Given the description of an element on the screen output the (x, y) to click on. 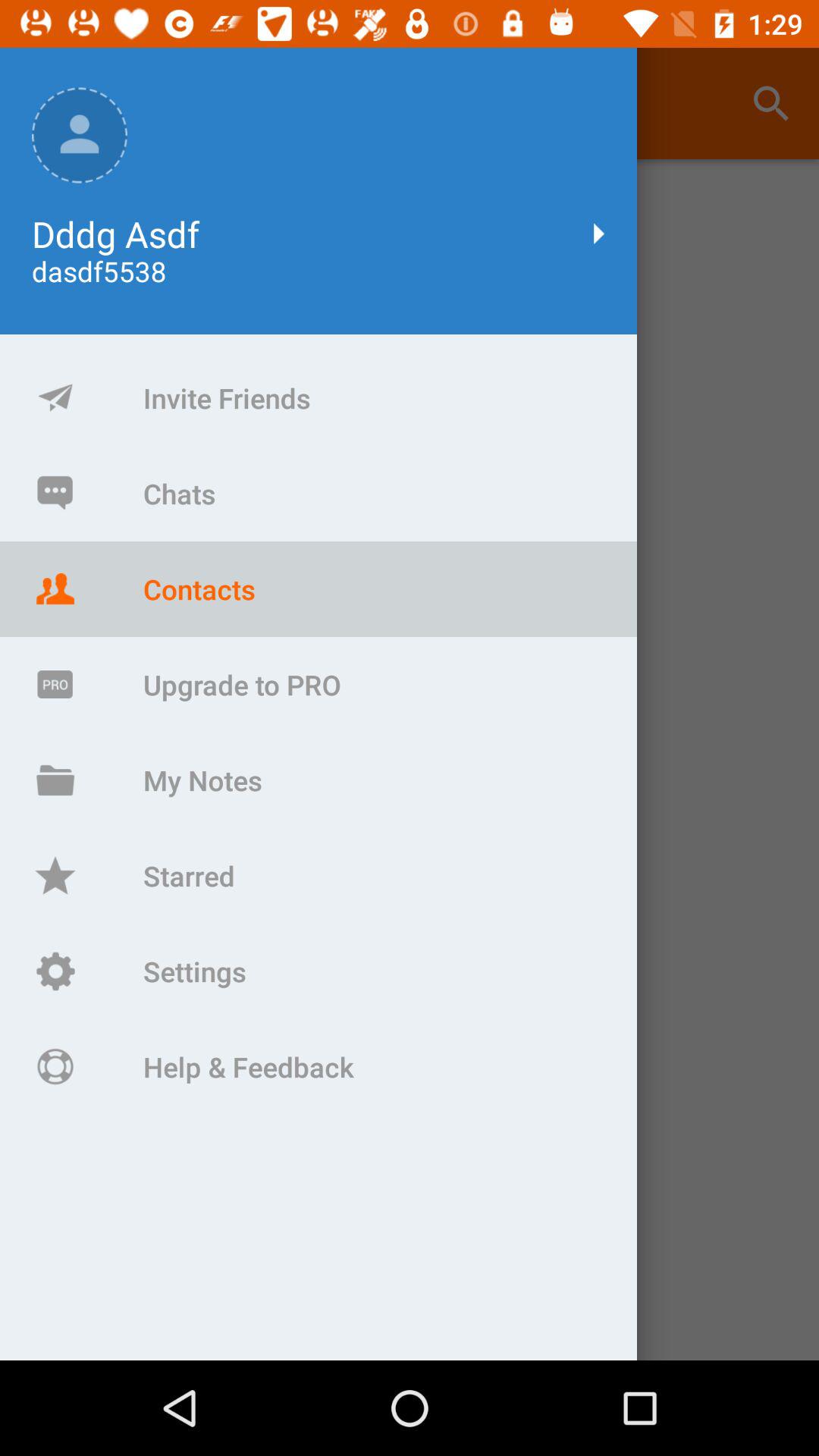
account profile (409, 759)
